Given the description of an element on the screen output the (x, y) to click on. 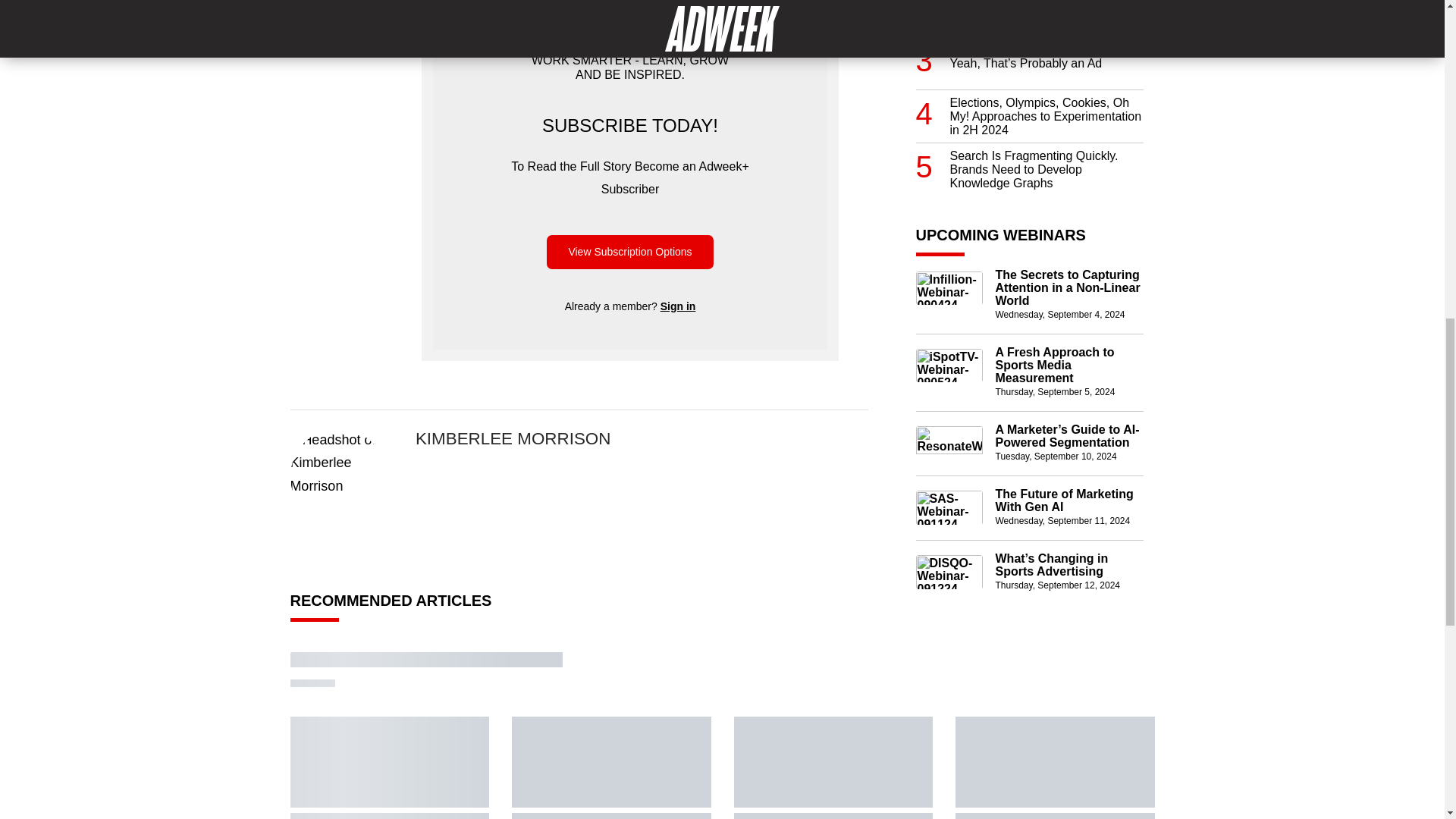
SAS-Webinar-091124-LinkedIn-v2 (948, 507)
KIMBERLEE MORRISON (512, 438)
DISQO-Webinar-091224 (948, 572)
Meet the Changemakers: 7 Newly Appointed CMOs to Watch (1045, 12)
A Fresh Approach to Sports Media Measurement (1068, 364)
ResonateWebinar091024Header (948, 442)
Infillion-Webinar-090424-Header (948, 287)
View Subscription Options (630, 252)
Sign in (678, 306)
